Given the description of an element on the screen output the (x, y) to click on. 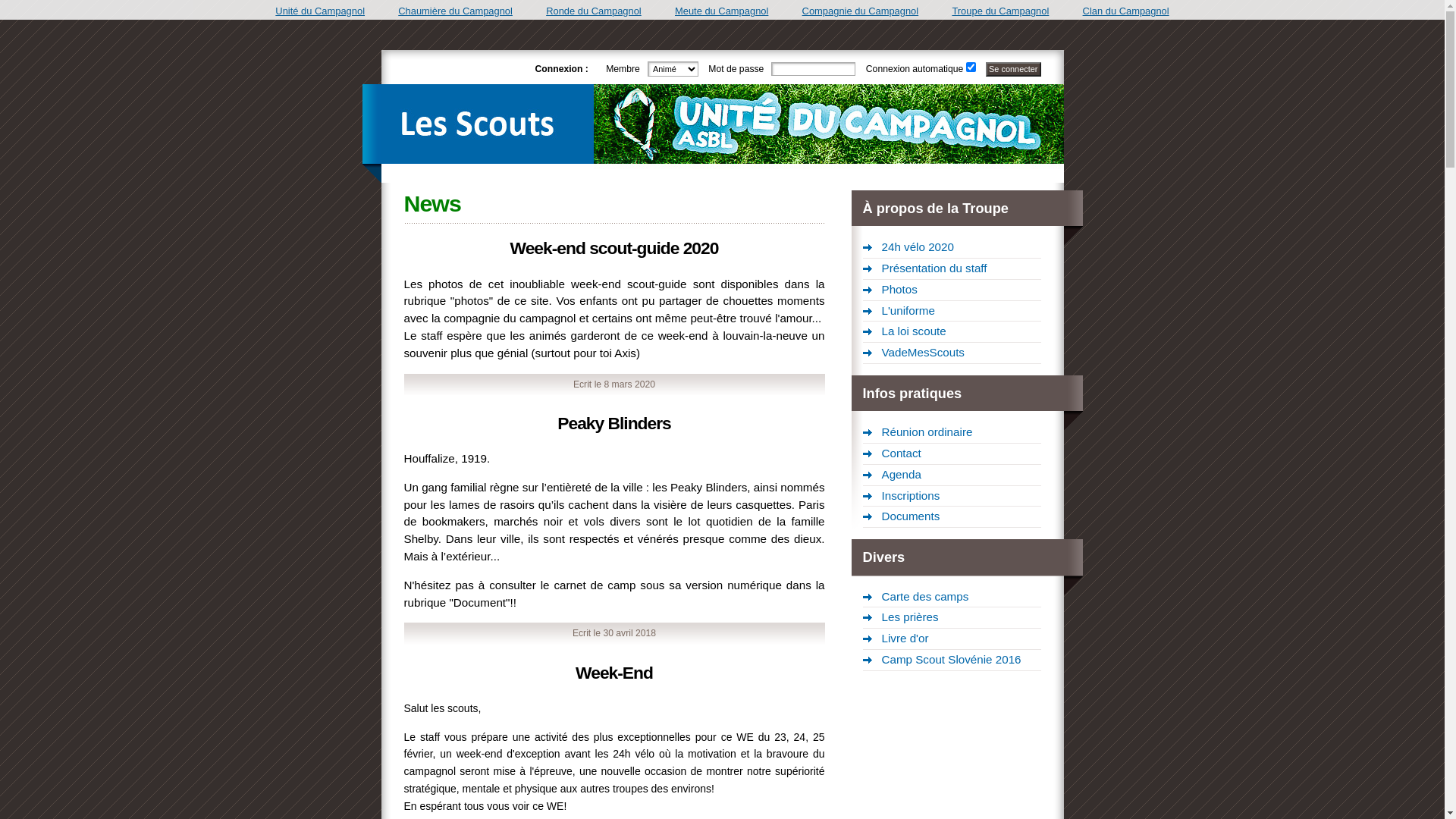
Meute du Campagnol Element type: text (721, 10)
Agenda Element type: text (951, 475)
Carte des camps Element type: text (951, 597)
L'uniforme Element type: text (951, 311)
Compagnie du Campagnol Element type: text (860, 10)
La loi scoute Element type: text (951, 331)
Inscriptions Element type: text (951, 496)
Livre d'or Element type: text (951, 638)
Documents Element type: text (951, 516)
Ronde du Campagnol Element type: text (593, 10)
Troupe du Campagnol Element type: text (999, 10)
VadeMesScouts Element type: text (951, 353)
Photos Element type: text (951, 290)
Contact Element type: text (951, 453)
Clan du Campagnol Element type: text (1125, 10)
Se connecter Element type: text (1012, 69)
